Given the description of an element on the screen output the (x, y) to click on. 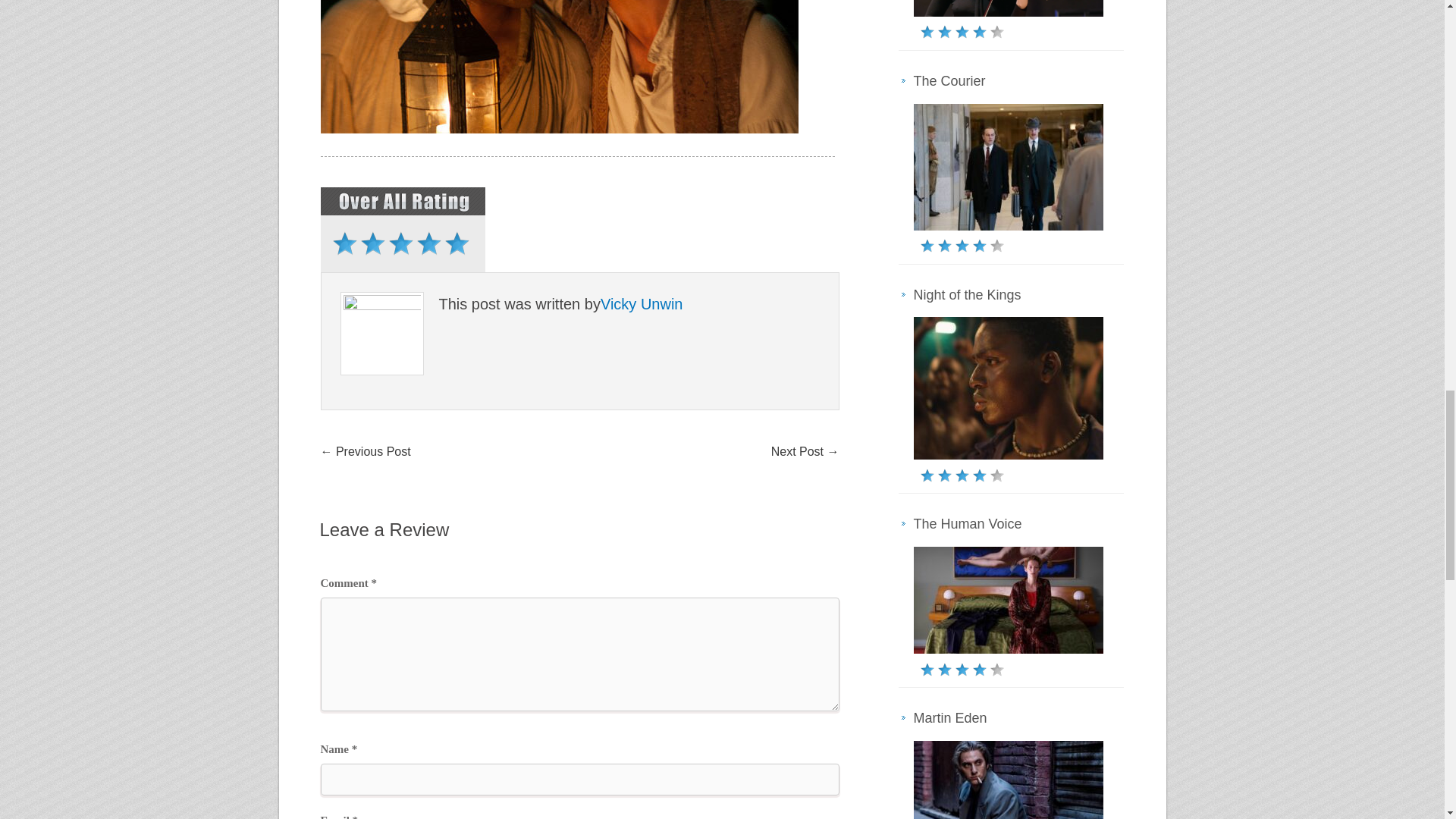
The Human Voice (967, 523)
The Human Voice (967, 523)
Martin Eden (949, 717)
Night of the Kings (966, 294)
The Courier (948, 80)
The Courier (948, 80)
Vicky Unwin (640, 303)
Martin Eden (949, 717)
Night of the Kings (966, 294)
Posts by Vicky Unwin (640, 303)
